Given the description of an element on the screen output the (x, y) to click on. 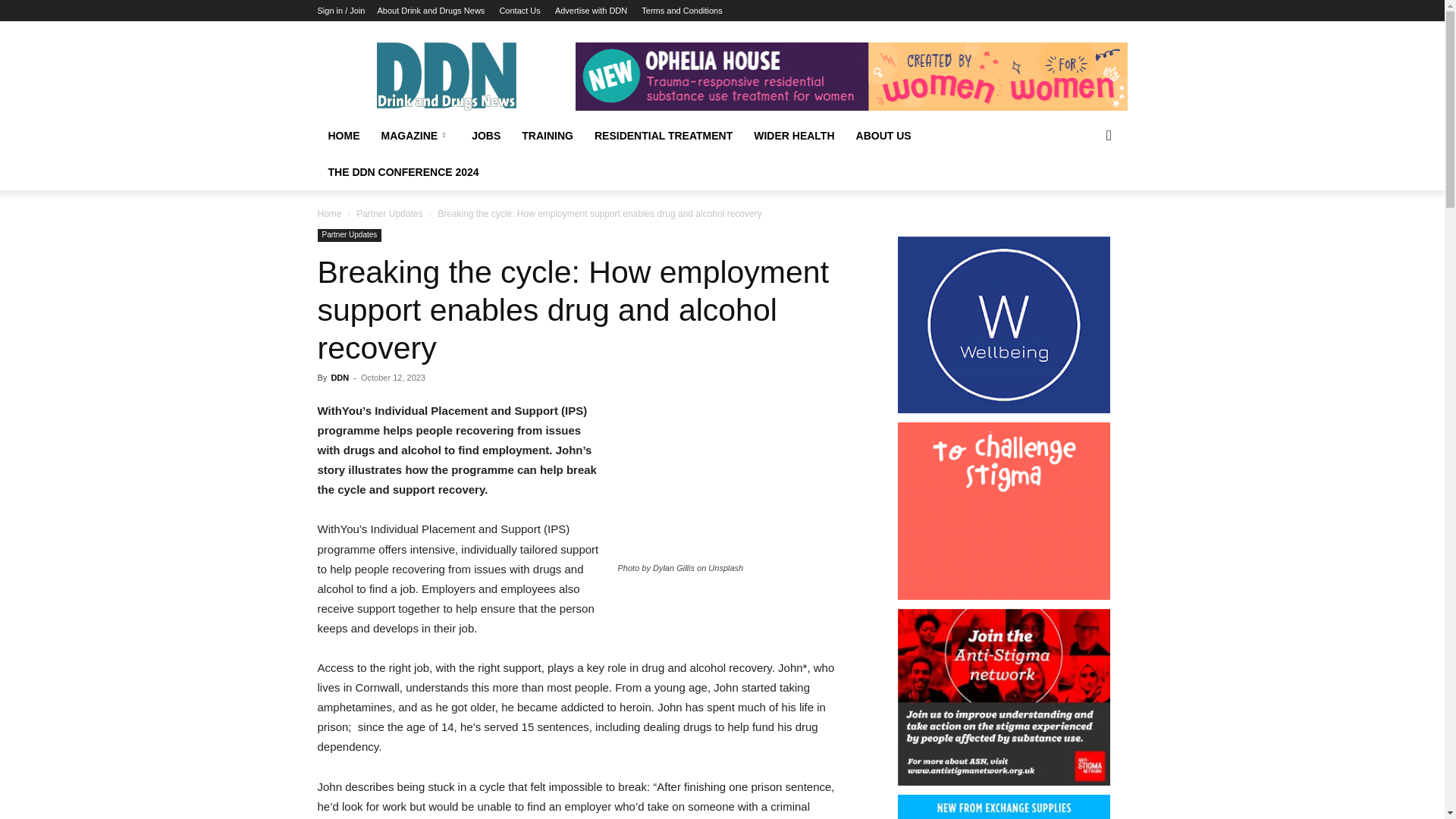
Advertise with DDN (590, 10)
Contact Us (519, 10)
About Drink and Drugs News (430, 10)
View all posts in Partner Updates (389, 213)
Terms and Conditions (682, 10)
